Given the description of an element on the screen output the (x, y) to click on. 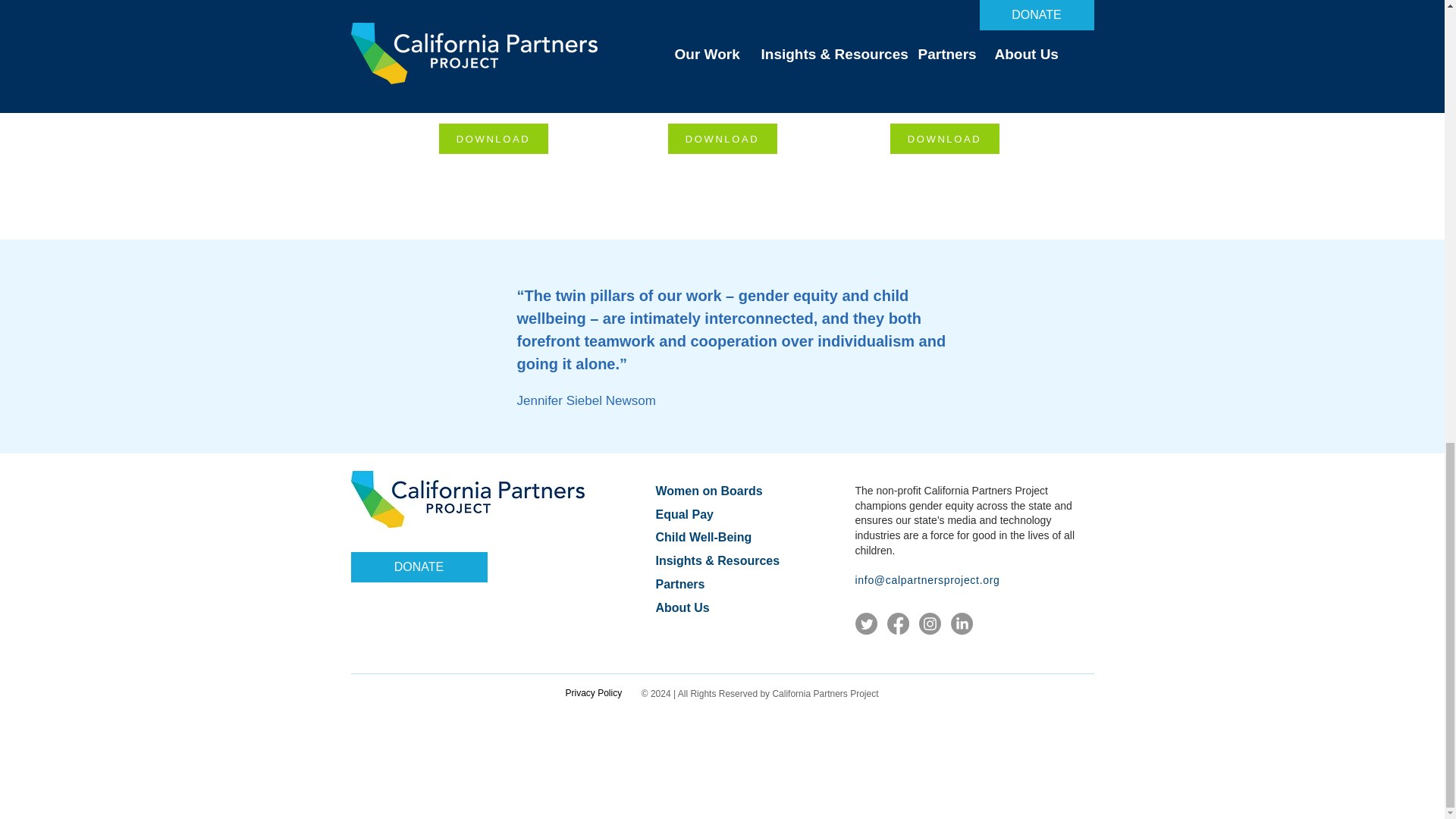
Partners (679, 584)
DOWNLOAD (492, 138)
DOWNLOAD (721, 138)
Privacy Policy (594, 692)
Equal Pay (684, 513)
Women on Boards (708, 490)
Child Well-Being (703, 536)
About Us (682, 607)
DONATE (418, 567)
DOWNLOAD (943, 138)
